Given the description of an element on the screen output the (x, y) to click on. 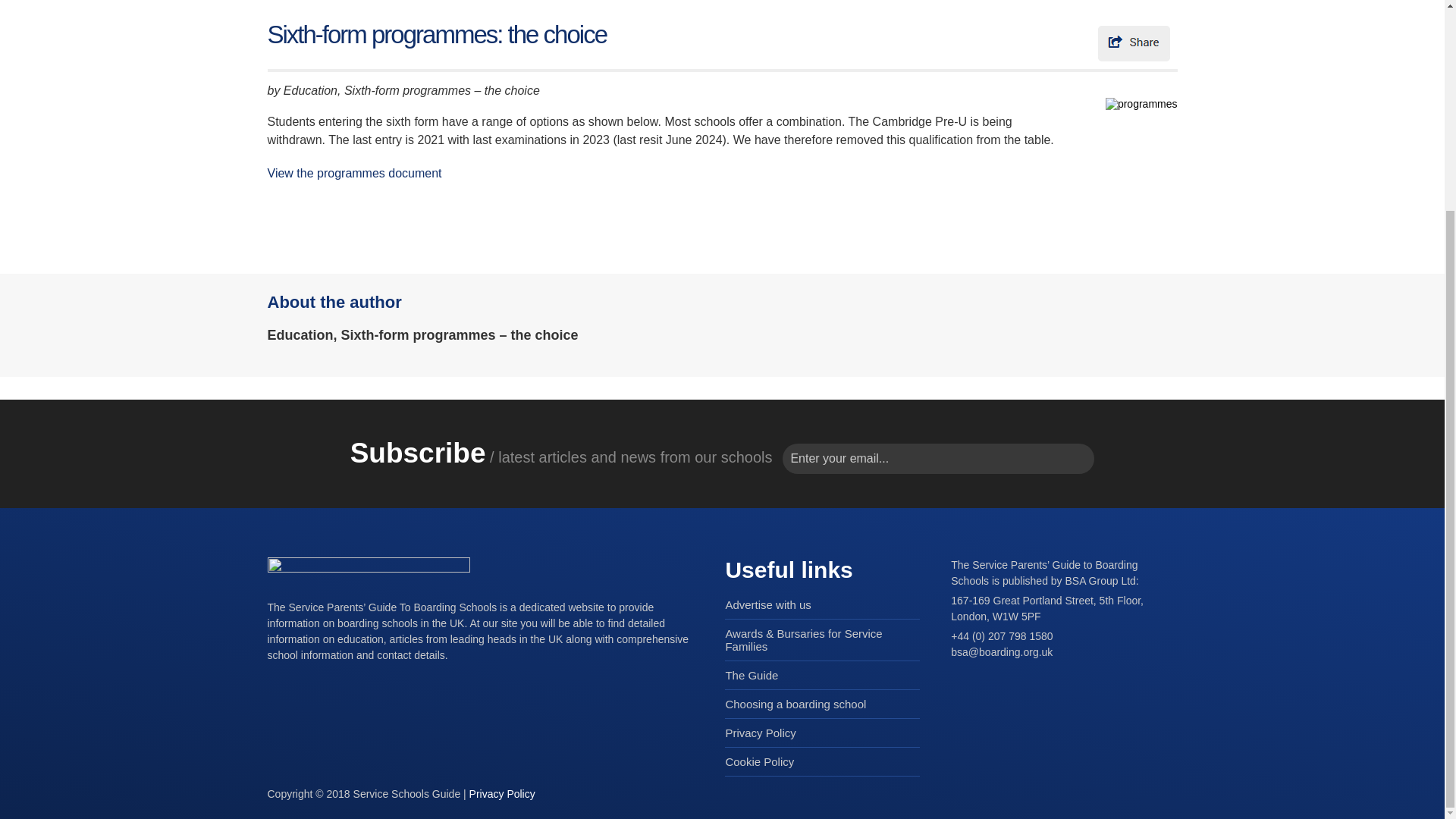
Choosing a boarding school (795, 703)
View the programmes document (353, 173)
Advertise with us (767, 604)
The Guide (751, 675)
